Given the description of an element on the screen output the (x, y) to click on. 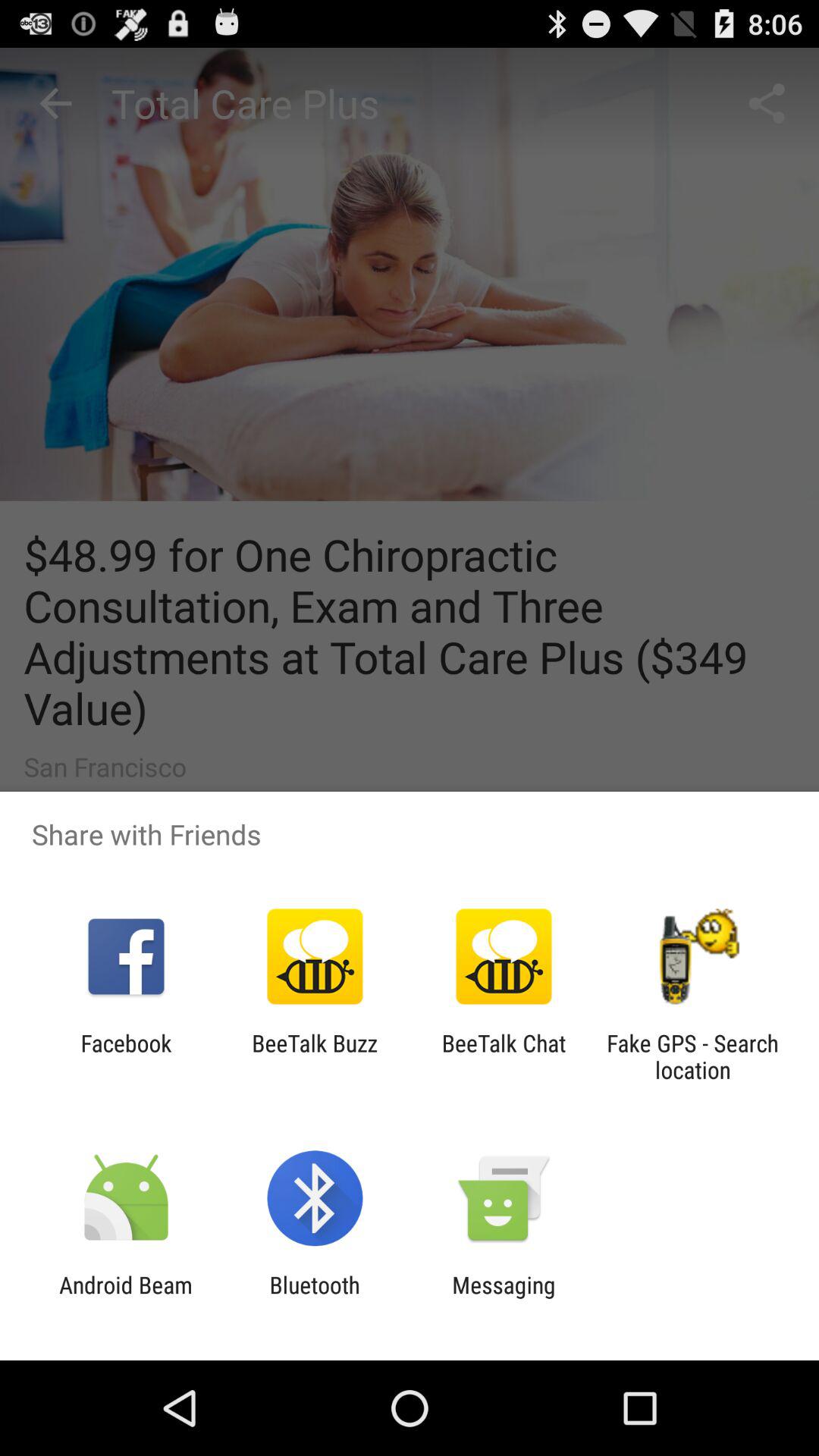
click app to the left of messaging (314, 1298)
